Given the description of an element on the screen output the (x, y) to click on. 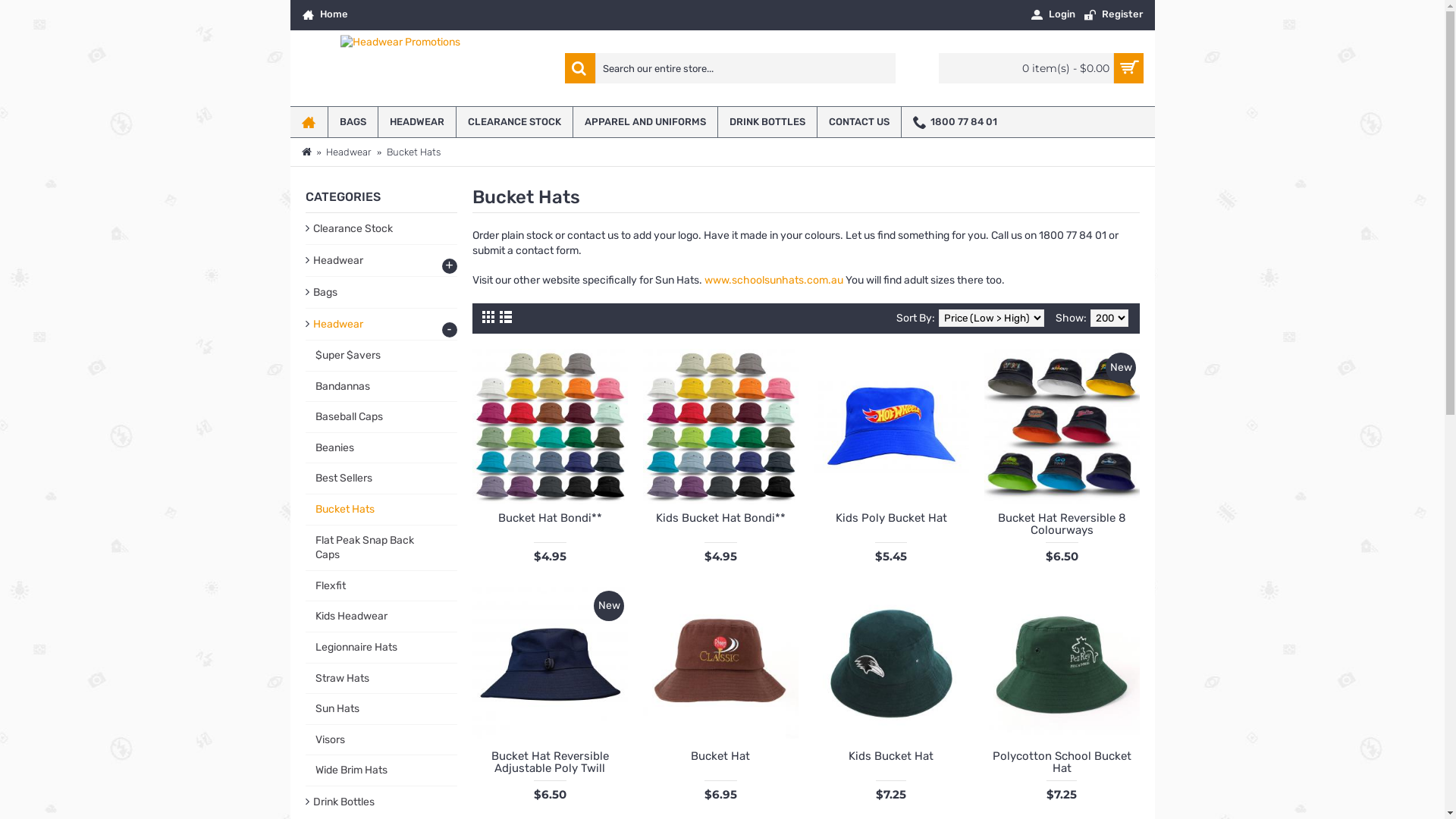
Headwear Promotions Element type: hover (400, 67)
Kids Bucket Hat Bondi** Element type: text (720, 517)
Kids Bucket Hat Element type: text (890, 755)
Bucket Hat Bondi** Element type: hover (549, 426)
Bucket Hats Element type: text (413, 152)
Login Element type: text (1052, 15)
Wide Brim Hats Element type: text (380, 770)
Best Sellers Element type: text (380, 478)
BAGS Element type: text (351, 121)
Kids Poly Bucket Hat Element type: text (890, 517)
Kids Bucket Hat Element type: hover (890, 664)
0 item(s) - $0.00 Element type: text (1040, 68)
Flat Peak Snap Back Caps Element type: text (380, 548)
Flexfit Element type: text (380, 586)
Bucket Hat Reversible 8 Colourways Element type: text (1061, 523)
DRINK BOTTLES Element type: text (766, 121)
Legionnaire Hats Element type: text (380, 647)
Headwear
+ Element type: text (380, 260)
Bucket Hat Element type: hover (720, 664)
Bucket Hats Element type: text (380, 509)
Polycotton School Bucket Hat Element type: hover (1061, 664)
Bucket Hat Reversible 8 Colourways Element type: hover (1061, 426)
Polycotton School Bucket Hat Element type: text (1061, 761)
Bucket Hat Reversible Adjustable Poly Twill Element type: text (549, 761)
CONTACT US Element type: text (858, 121)
Bags Element type: text (380, 292)
Kids Poly Bucket Hat Element type: hover (890, 426)
Sun Hats Element type: text (380, 708)
Straw Hats Element type: text (380, 678)
Beanies Element type: text (380, 448)
Bucket Hat Reversible Adjustable Poly Twill Element type: hover (549, 664)
Register Element type: text (1113, 15)
Baseball Caps Element type: text (380, 417)
Clearance Stock Element type: text (380, 228)
Bucket Hat Bondi** Element type: text (549, 517)
$uper $avers Element type: text (380, 355)
CLEARANCE STOCK Element type: text (514, 121)
www.schoolsunhats.com.au Element type: text (772, 279)
Headwear
- Element type: text (380, 324)
HEADWEAR Element type: text (416, 121)
Headwear Element type: text (348, 152)
Kids Bucket Hat Bondi** Element type: hover (720, 426)
Kids Headwear Element type: text (380, 616)
Bucket Hat Element type: text (720, 755)
Bandannas Element type: text (380, 386)
Drink Bottles Element type: text (380, 801)
Visors Element type: text (380, 740)
Home Element type: text (324, 15)
APPAREL AND UNIFORMS Element type: text (645, 121)
1800 77 84 01 Element type: text (953, 121)
